Given the description of an element on the screen output the (x, y) to click on. 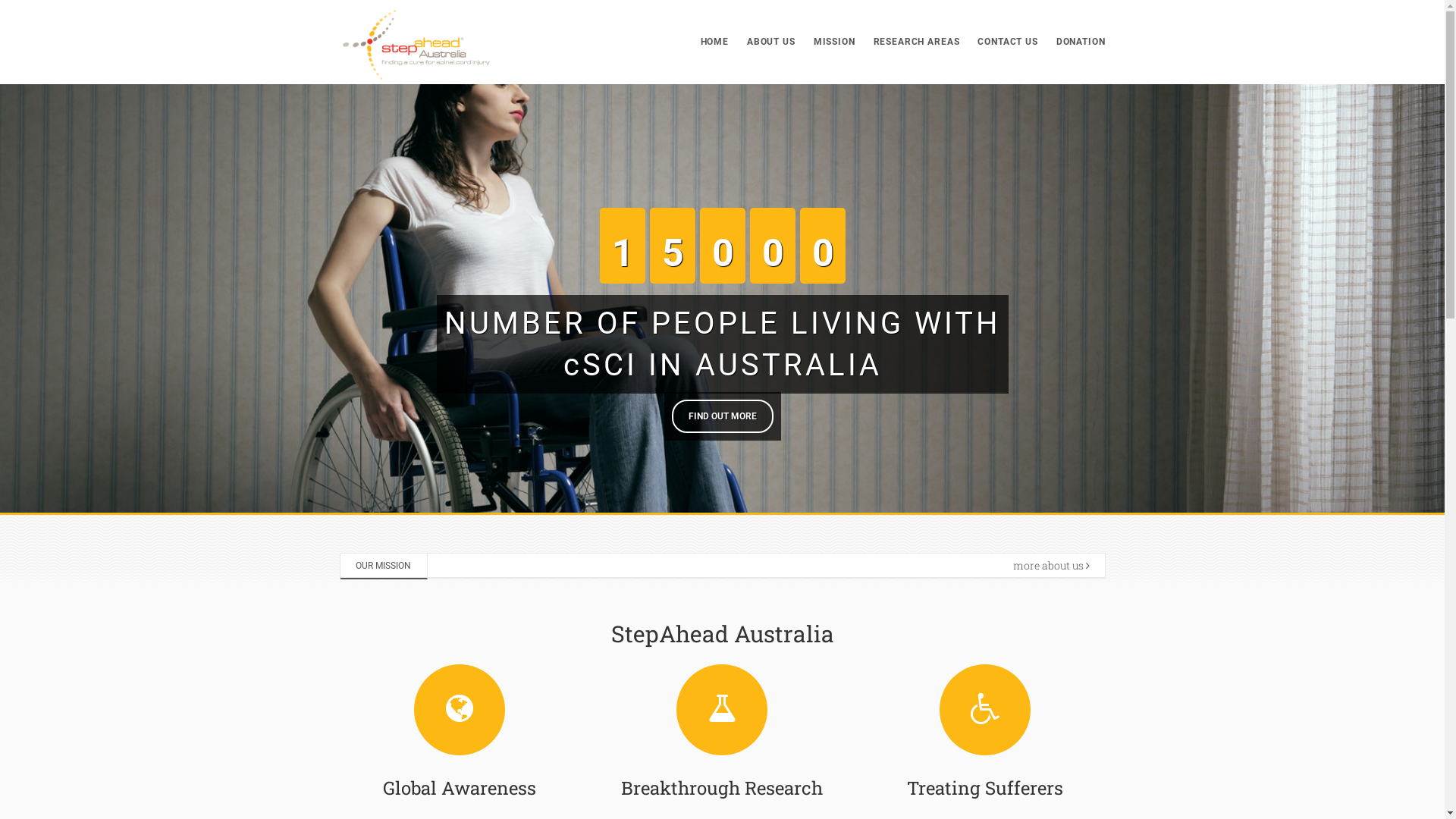
MISSION Element type: text (834, 41)
ABOUT US Element type: text (770, 41)
OUR MISSION Element type: text (382, 566)
FIND OUT MORE Element type: text (722, 415)
more about us Element type: text (1051, 565)
CONTACT US Element type: text (1007, 41)
RESEARCH AREAS Element type: text (916, 41)
DONATION Element type: text (1076, 41)
HOME Element type: text (714, 41)
